Given the description of an element on the screen output the (x, y) to click on. 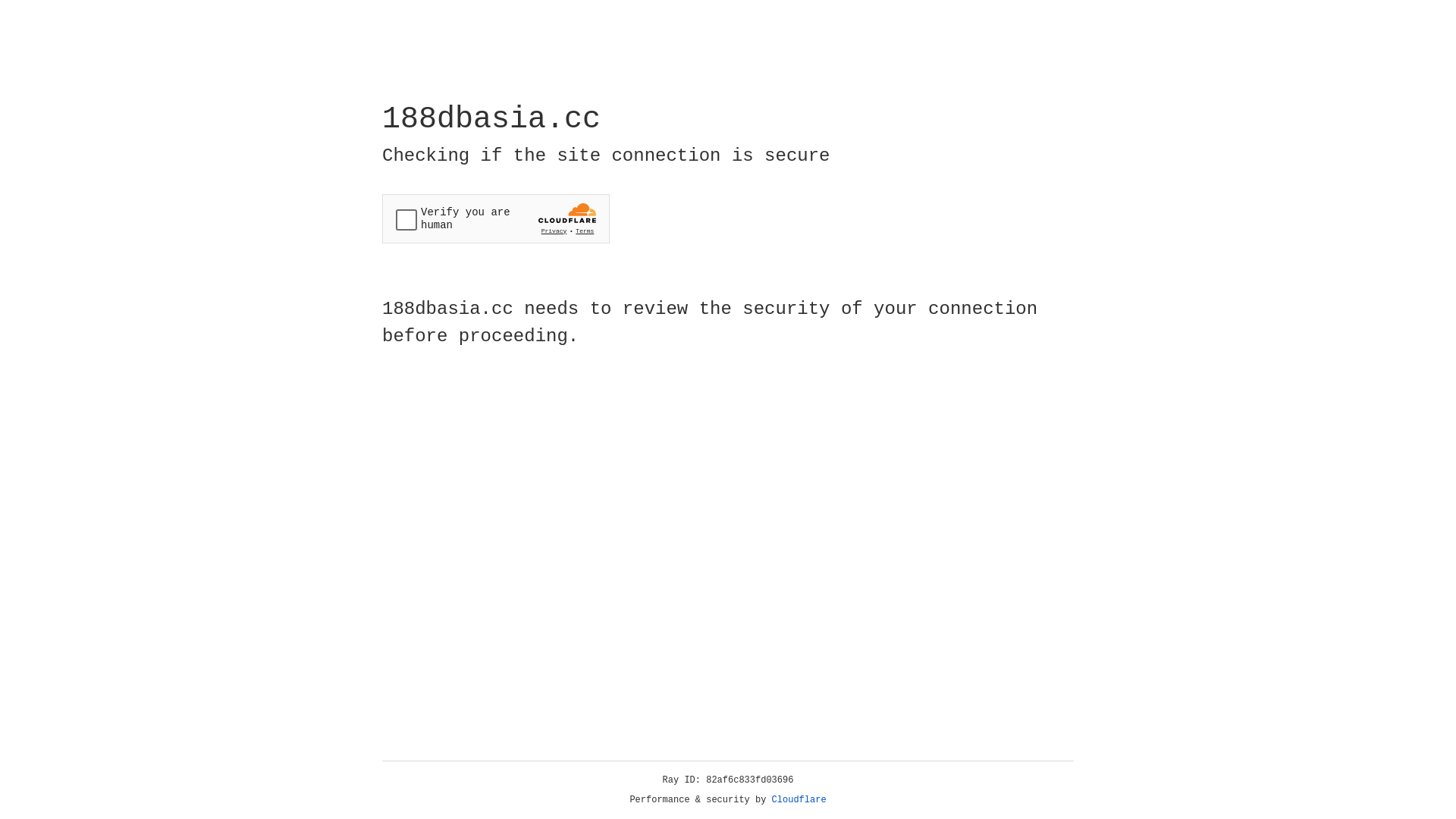
Widget containing a Cloudflare security challenge Element type: hover (495, 218)
Cloudflare Element type: text (798, 799)
